Given the description of an element on the screen output the (x, y) to click on. 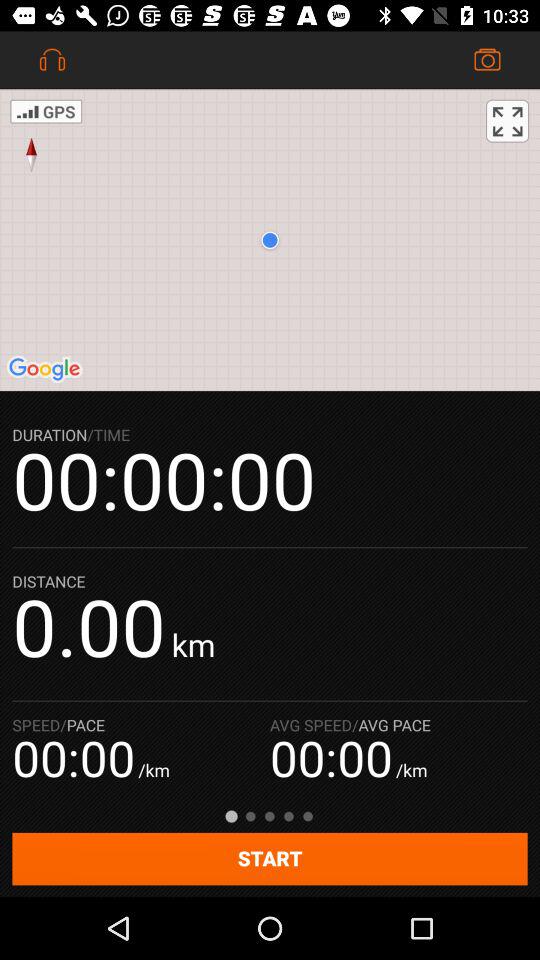
turn on icon above duration/time item (270, 240)
